Given the description of an element on the screen output the (x, y) to click on. 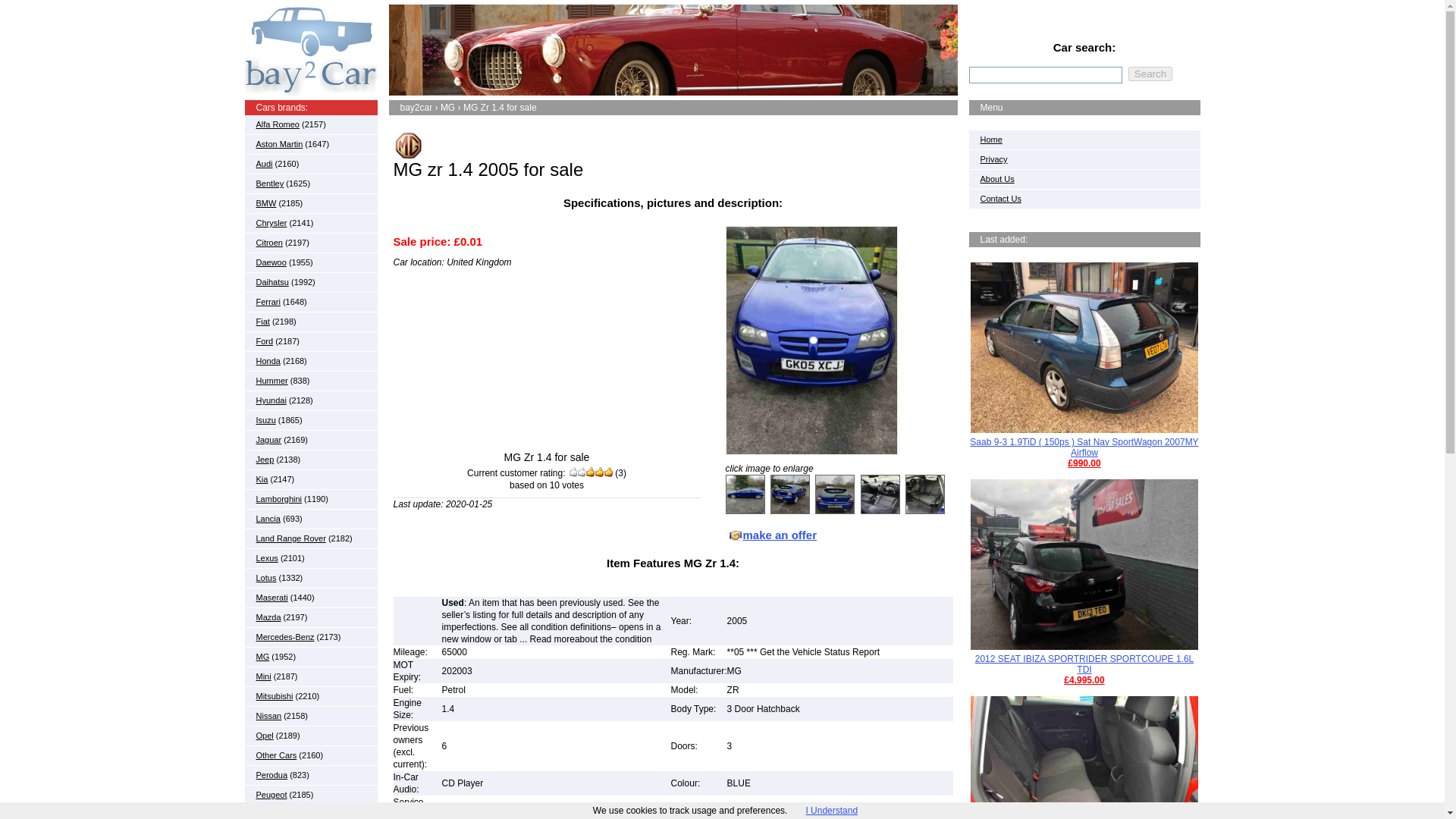
Search (1150, 73)
Lexus (267, 557)
Perodua (272, 774)
Hummer (272, 379)
Opel (264, 735)
Daewoo (271, 261)
Search (1150, 73)
Fiat (262, 320)
Maserati (272, 596)
Hyundai (271, 399)
Nissan (269, 715)
Kia (261, 479)
Isuzu (266, 420)
Honda (268, 360)
MG (262, 655)
